Given the description of an element on the screen output the (x, y) to click on. 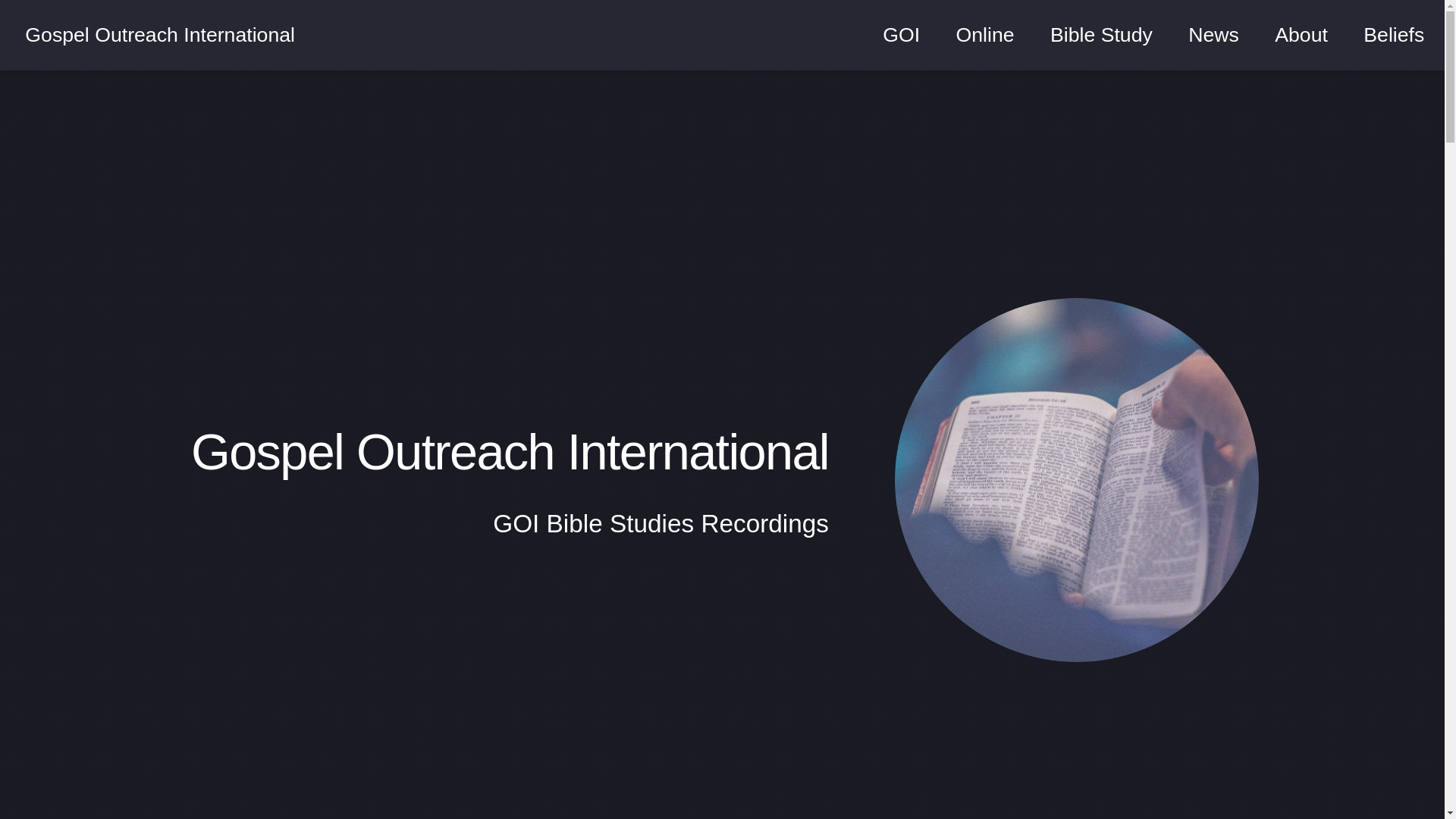
Next (722, 803)
Bible Study (1101, 35)
Next (722, 803)
Gospel Outreach International (159, 34)
